Given the description of an element on the screen output the (x, y) to click on. 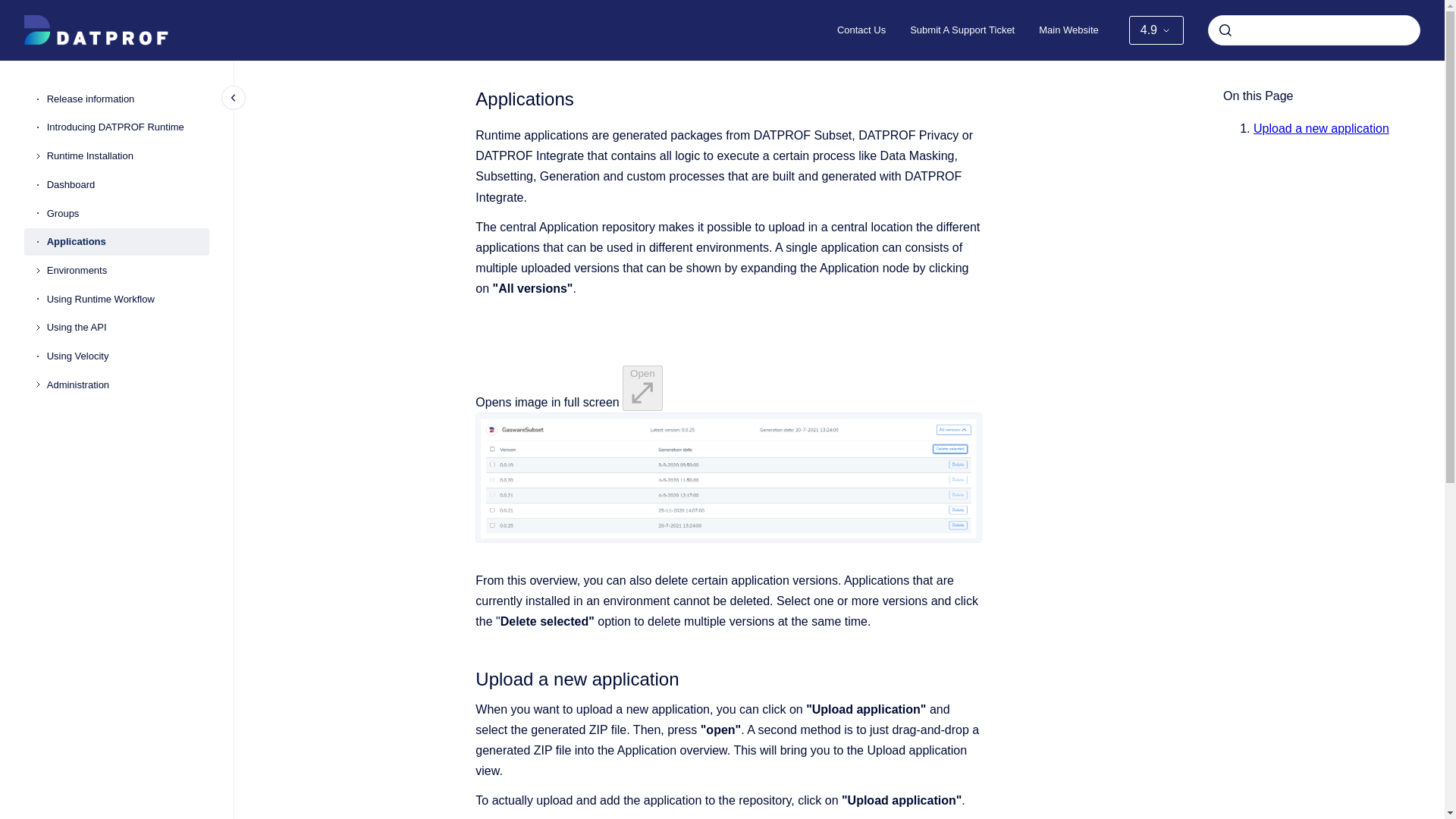
Introducing DATPROF Runtime (127, 127)
Using Velocity (127, 356)
Runtime Installation (127, 155)
Applications (127, 241)
Contact Us (861, 29)
Groups (127, 213)
Release information (127, 99)
Submit A Support Ticket (962, 29)
Go to homepage (96, 30)
Environments (127, 270)
